Given the description of an element on the screen output the (x, y) to click on. 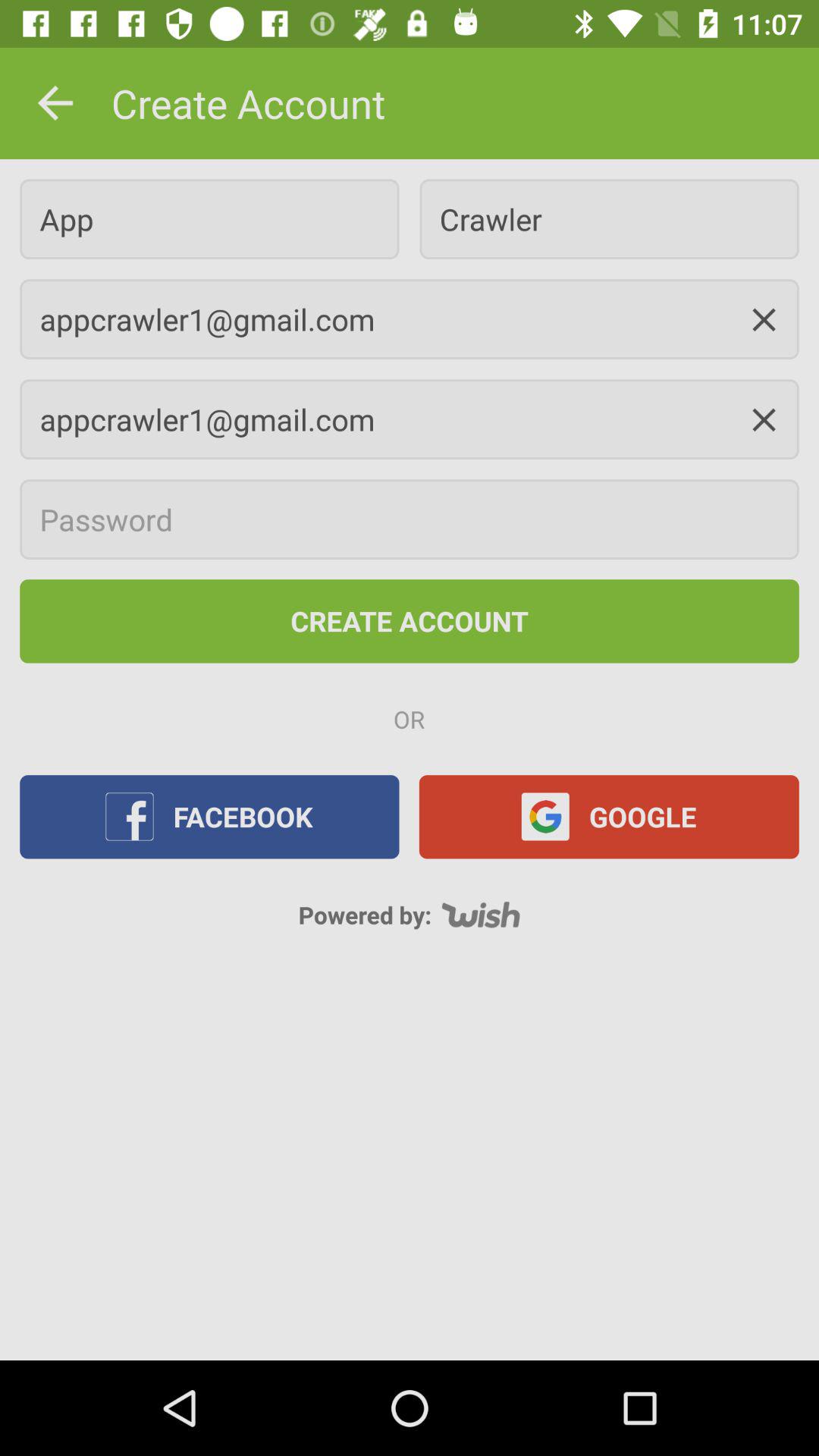
scroll until crawler icon (609, 219)
